Given the description of an element on the screen output the (x, y) to click on. 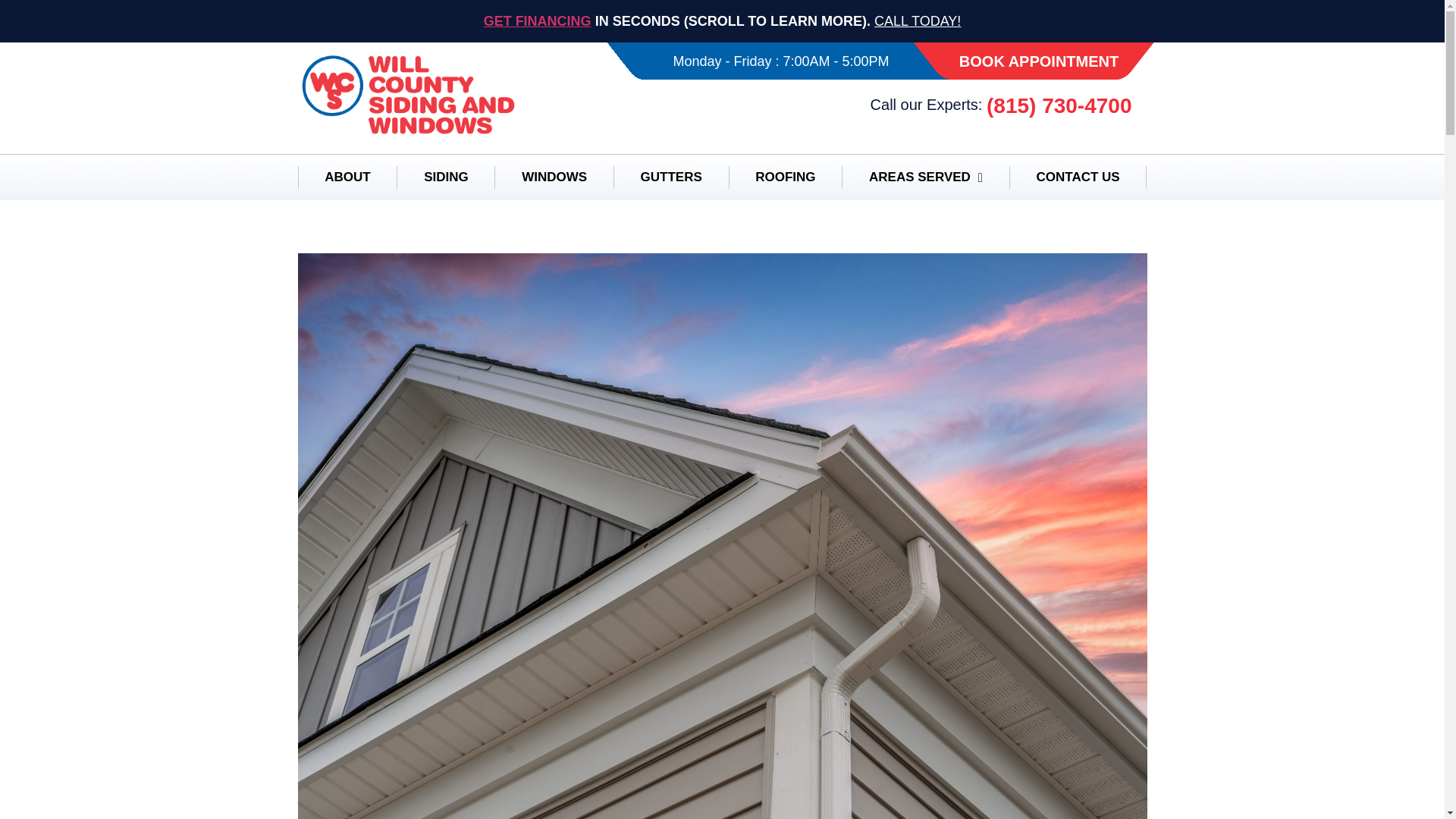
Call our Experts: (928, 104)
BOOK APPOINTMENT (1038, 61)
CALL TODAY! (917, 20)
AREAS SERVED (925, 177)
GUTTERS (670, 177)
SIDING (445, 177)
ABOUT (346, 177)
CONTACT US (1078, 177)
WINDOWS (553, 177)
GET FINANCING (537, 20)
